Given the description of an element on the screen output the (x, y) to click on. 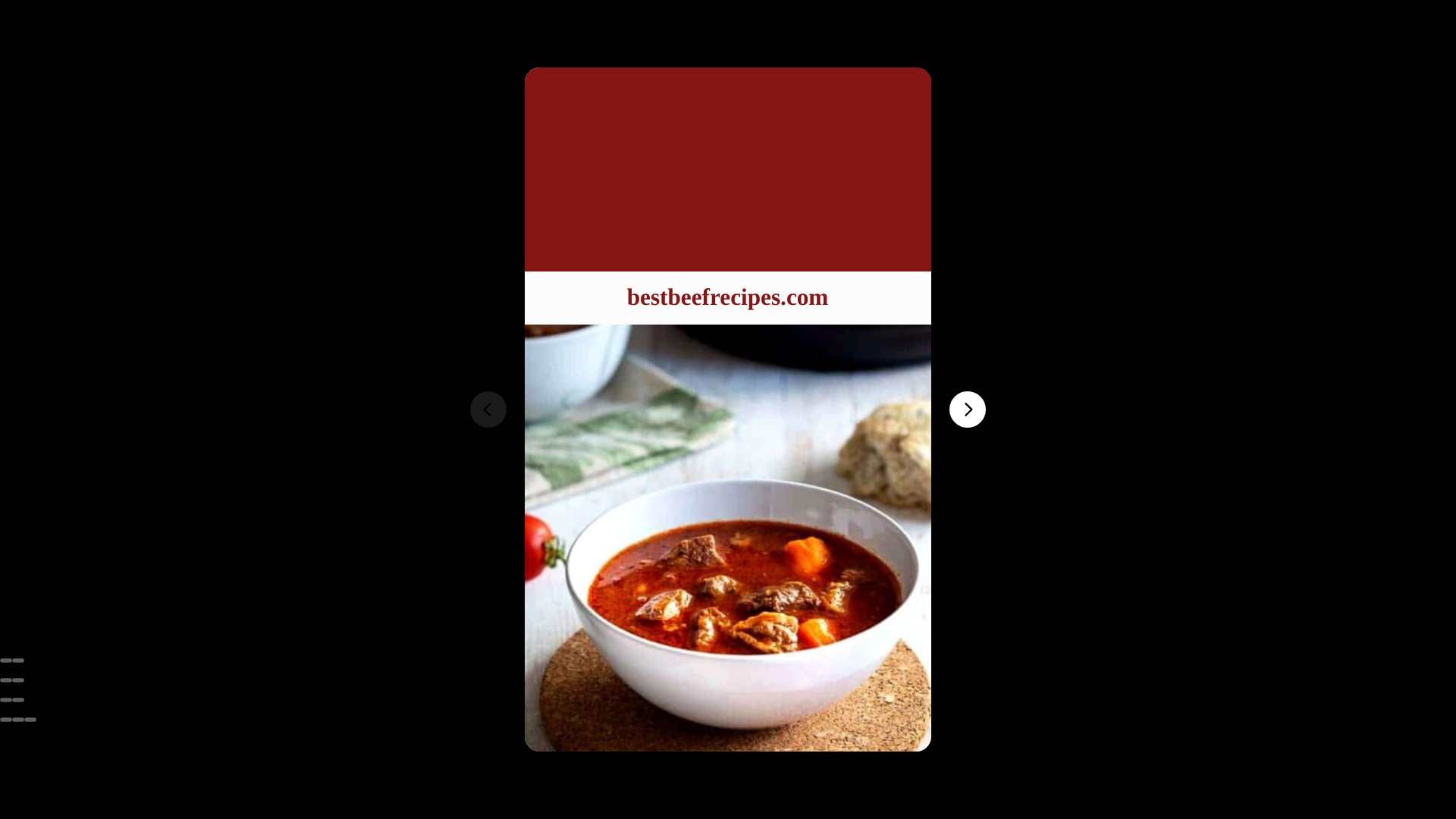
bestbeefrecipes.com (726, 297)
